Given the description of an element on the screen output the (x, y) to click on. 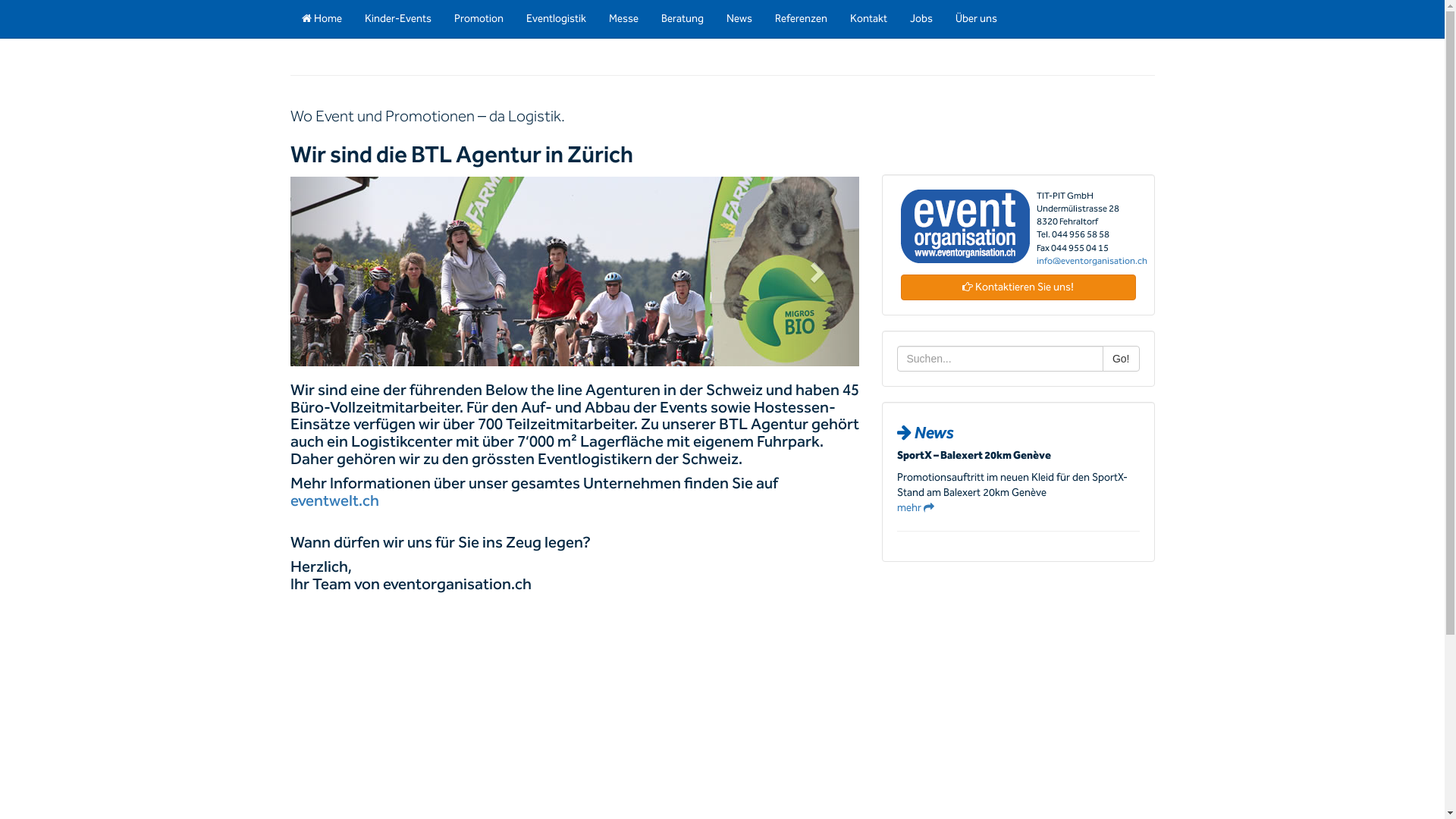
TIT-PIT GmbH Element type: hover (964, 226)
eventorganisation.ch Element type: hover (573, 271)
Kontaktieren Sie uns! Element type: text (1017, 287)
info@eventorganisation.ch Element type: text (1090, 261)
Messe Element type: text (623, 18)
Referenzen Element type: text (799, 18)
eventwelt.ch Element type: text (333, 501)
Kontakt Element type: text (868, 18)
Home Element type: text (320, 18)
Jobs Element type: text (920, 18)
Eventlogistik Element type: text (555, 18)
mehr Element type: text (914, 507)
Go! Element type: text (1120, 358)
News Element type: text (738, 18)
Promotion Element type: text (478, 18)
Kinder-Events Element type: text (397, 18)
Beratung Element type: text (681, 18)
